Given the description of an element on the screen output the (x, y) to click on. 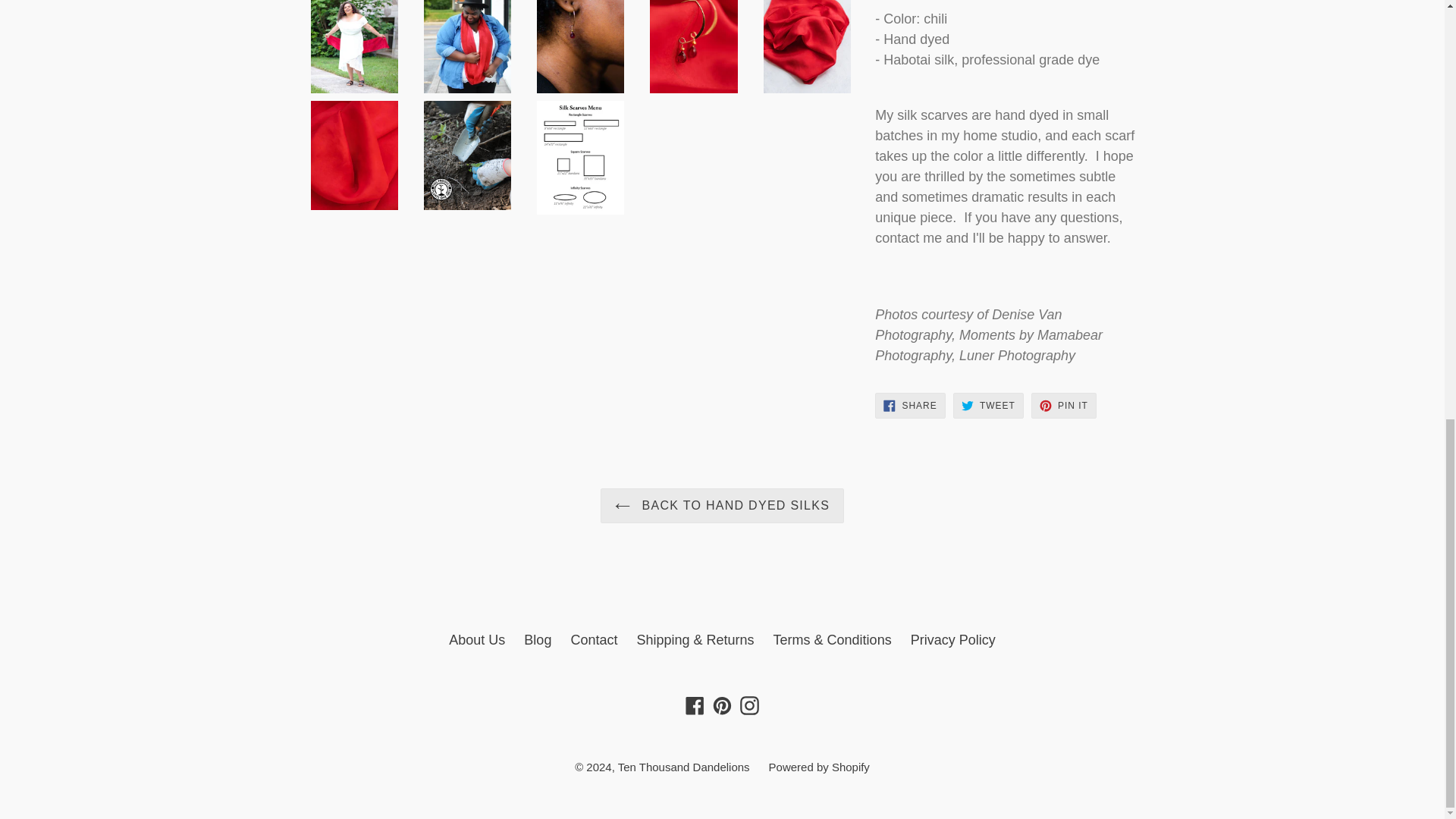
Ten Thousand Dandelions on Pinterest (721, 704)
Pin on Pinterest (1063, 405)
Ten Thousand Dandelions on Facebook (694, 704)
Ten Thousand Dandelions on Instagram (749, 704)
Tweet on Twitter (988, 405)
Share on Facebook (909, 405)
